Given the description of an element on the screen output the (x, y) to click on. 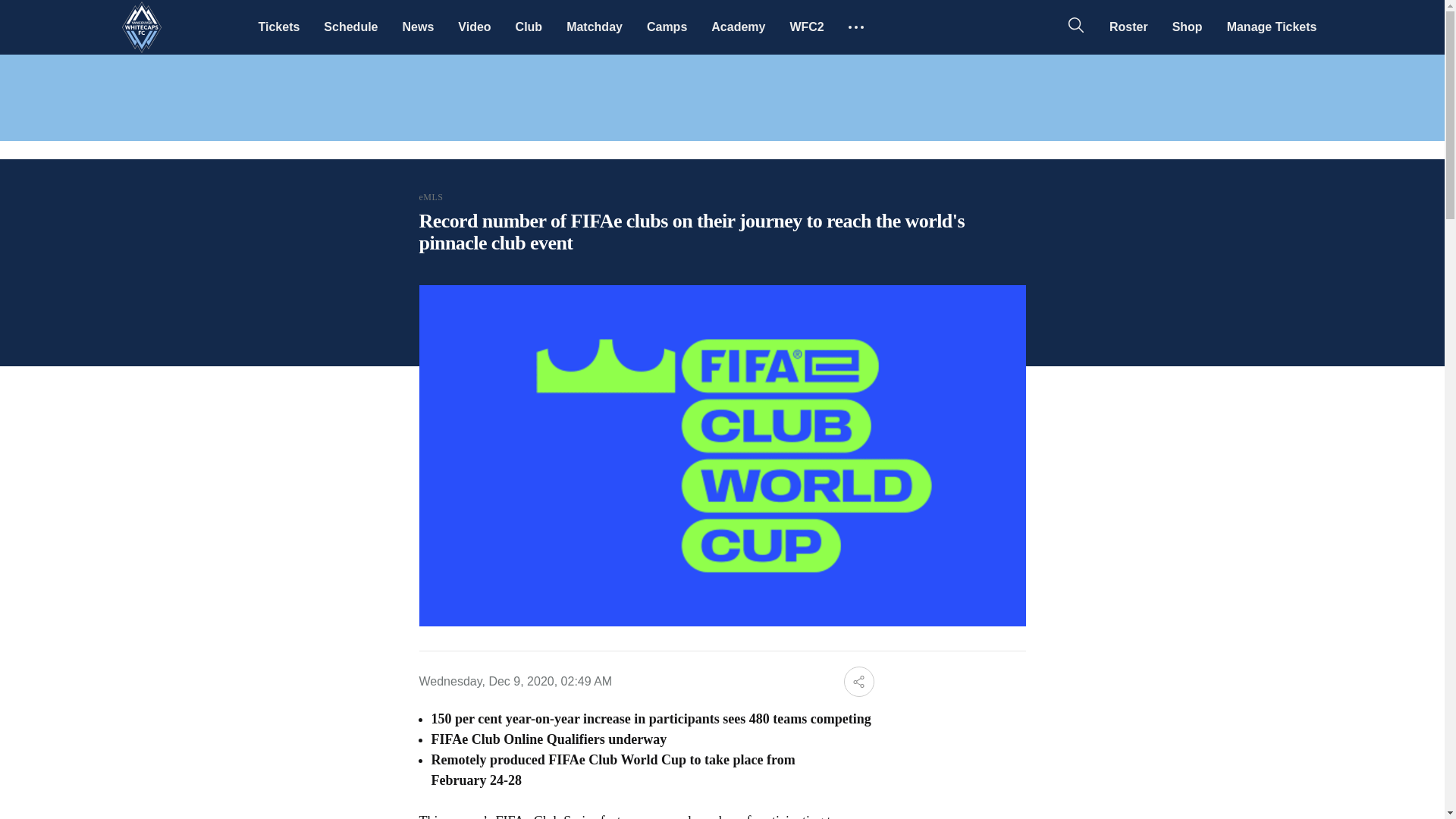
Video (473, 26)
Matchday (594, 26)
Club (528, 26)
Schedule (350, 26)
Camps (666, 26)
Manage Tickets (1271, 26)
Tickets (278, 26)
Vancouver Whitecaps FC (141, 27)
WFC2 (806, 26)
Shop (1187, 26)
